Given the description of an element on the screen output the (x, y) to click on. 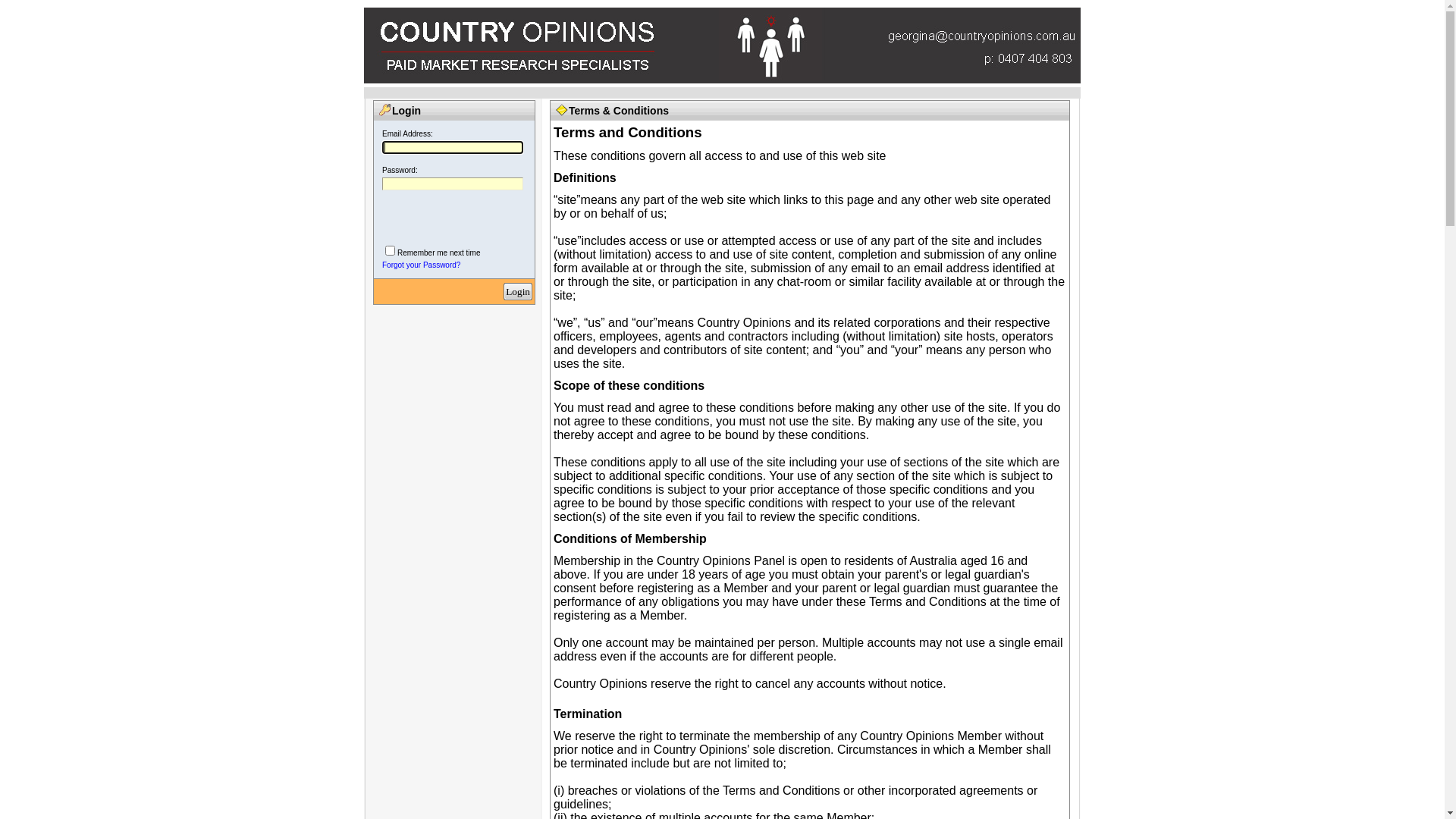
Login Element type: text (517, 290)
Forgot your Password? Element type: text (421, 264)
